Given the description of an element on the screen output the (x, y) to click on. 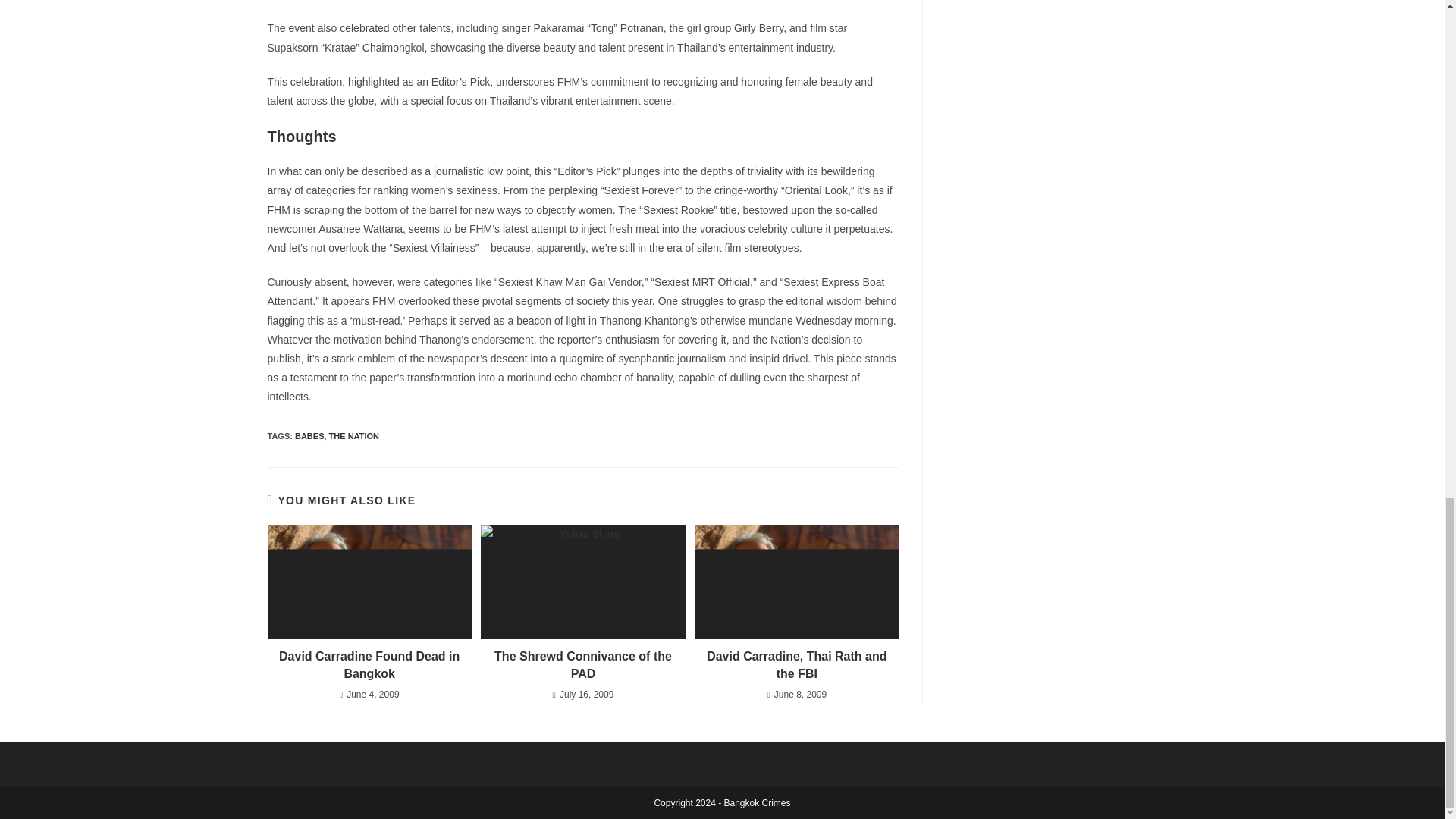
David Carradine Found Dead in Bangkok (368, 665)
THE NATION (353, 435)
The Shrewd Connivance of the PAD (582, 665)
BABES (309, 435)
David Carradine, Thai Rath and the FBI (796, 665)
